Given the description of an element on the screen output the (x, y) to click on. 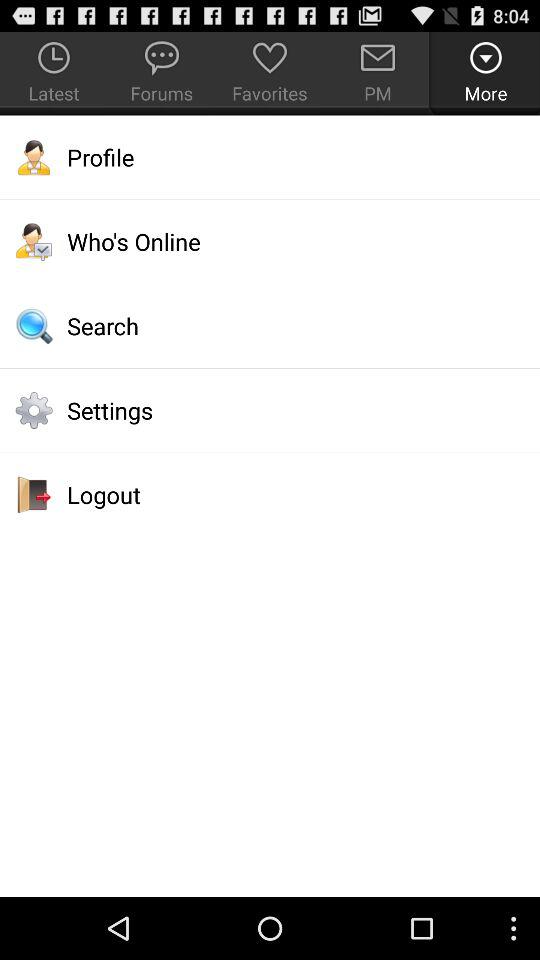
open item below the   settings item (270, 494)
